Given the description of an element on the screen output the (x, y) to click on. 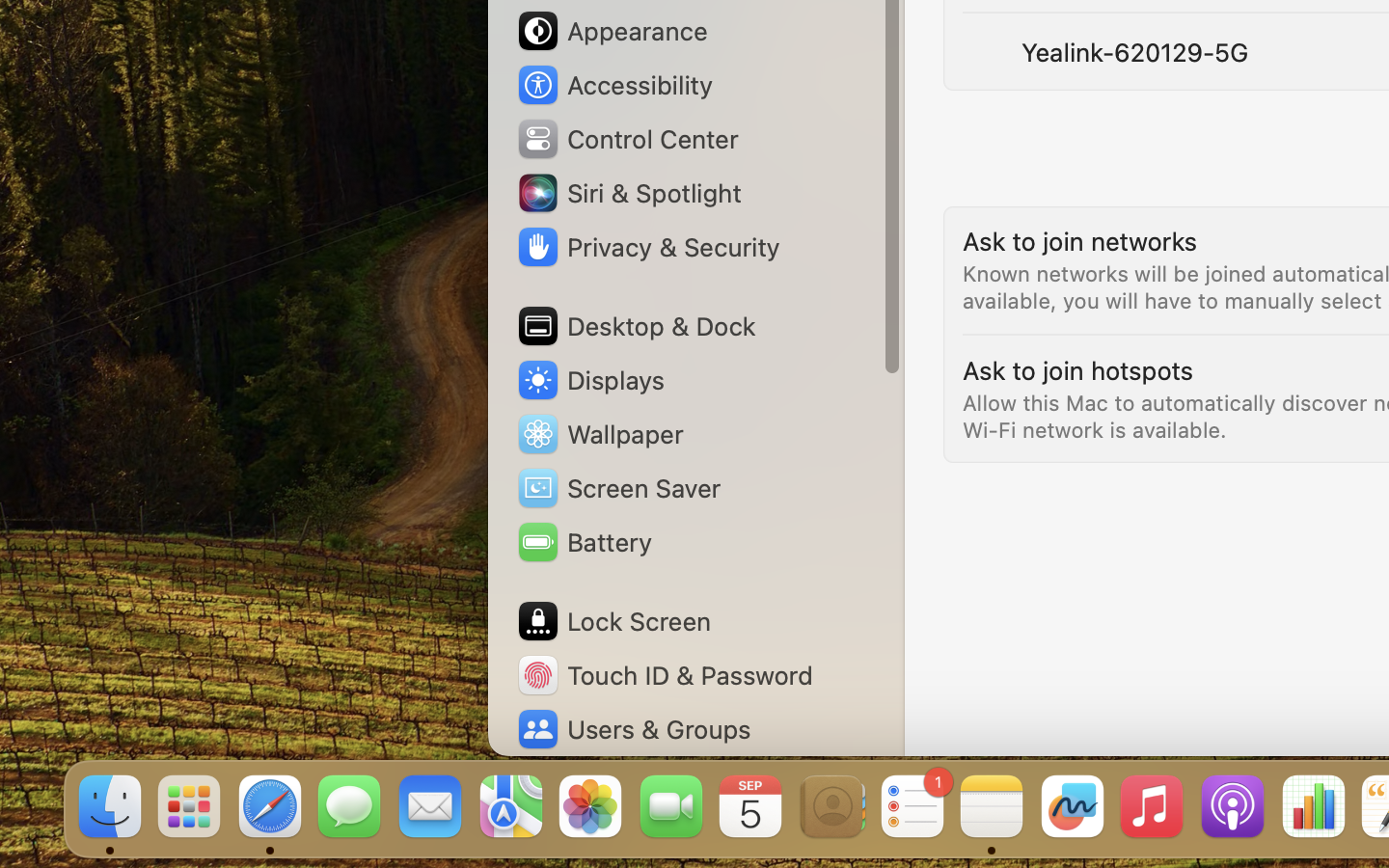
Lock Screen Element type: AXStaticText (613, 620)
Control Center Element type: AXStaticText (626, 138)
Displays Element type: AXStaticText (590, 379)
Privacy & Security Element type: AXStaticText (647, 246)
Touch ID & Password Element type: AXStaticText (664, 674)
